Given the description of an element on the screen output the (x, y) to click on. 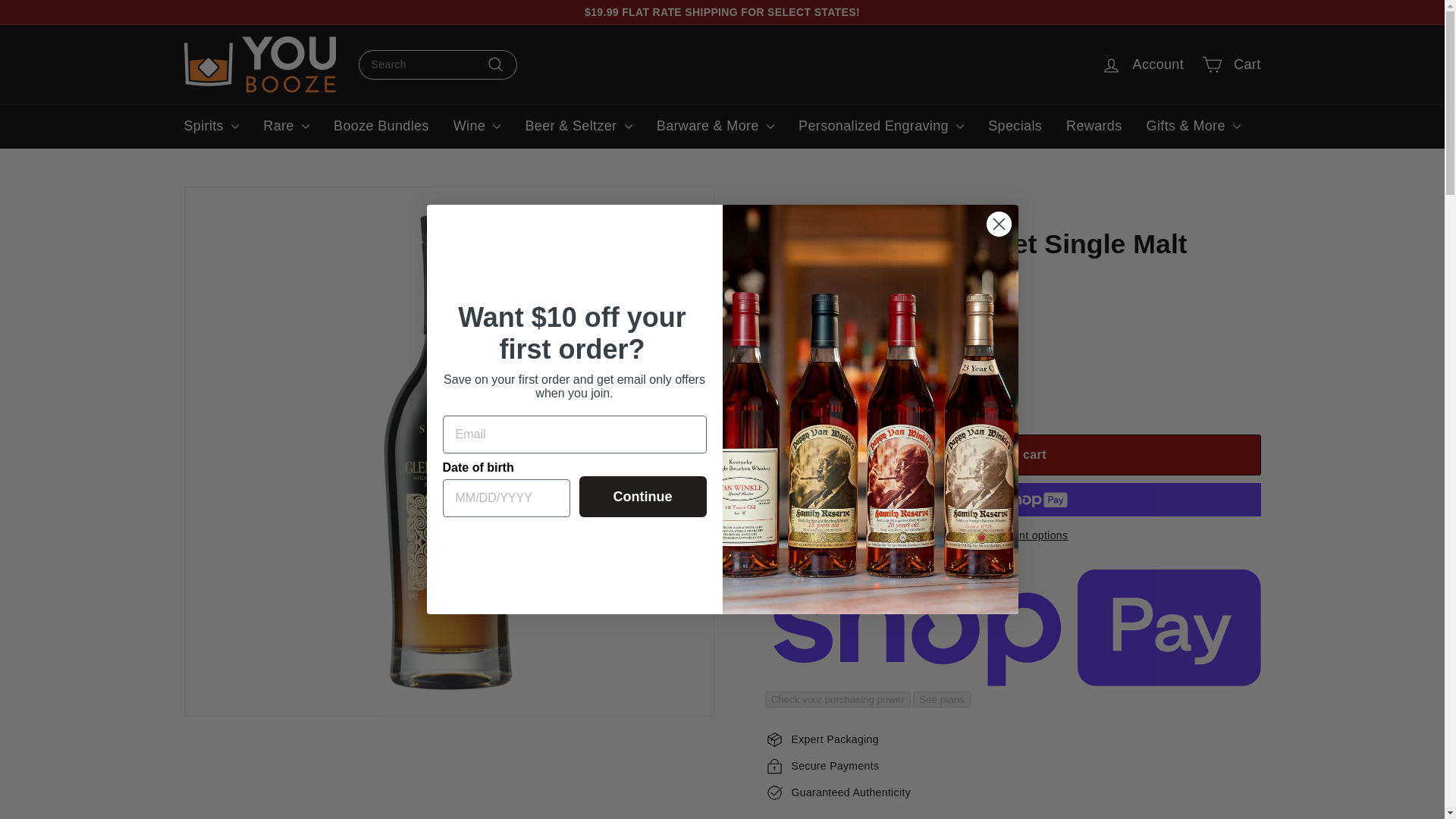
Glenmorangie (799, 308)
Cart (1230, 63)
Account (1142, 63)
